Given the description of an element on the screen output the (x, y) to click on. 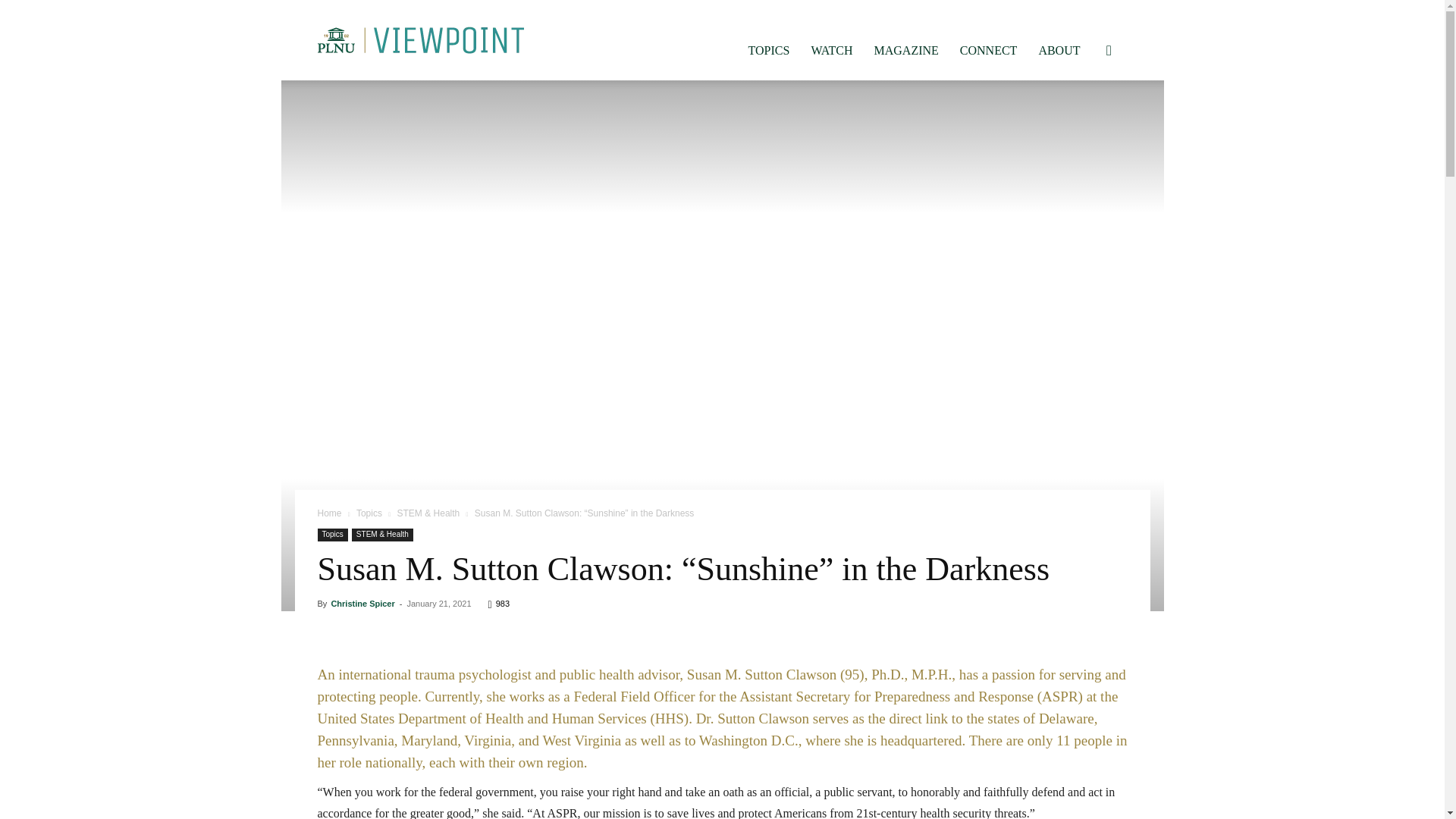
PLNU Viewpoint logo  (419, 39)
TOPICS (769, 50)
Viewpoint (419, 39)
Search (1085, 122)
